Given the description of an element on the screen output the (x, y) to click on. 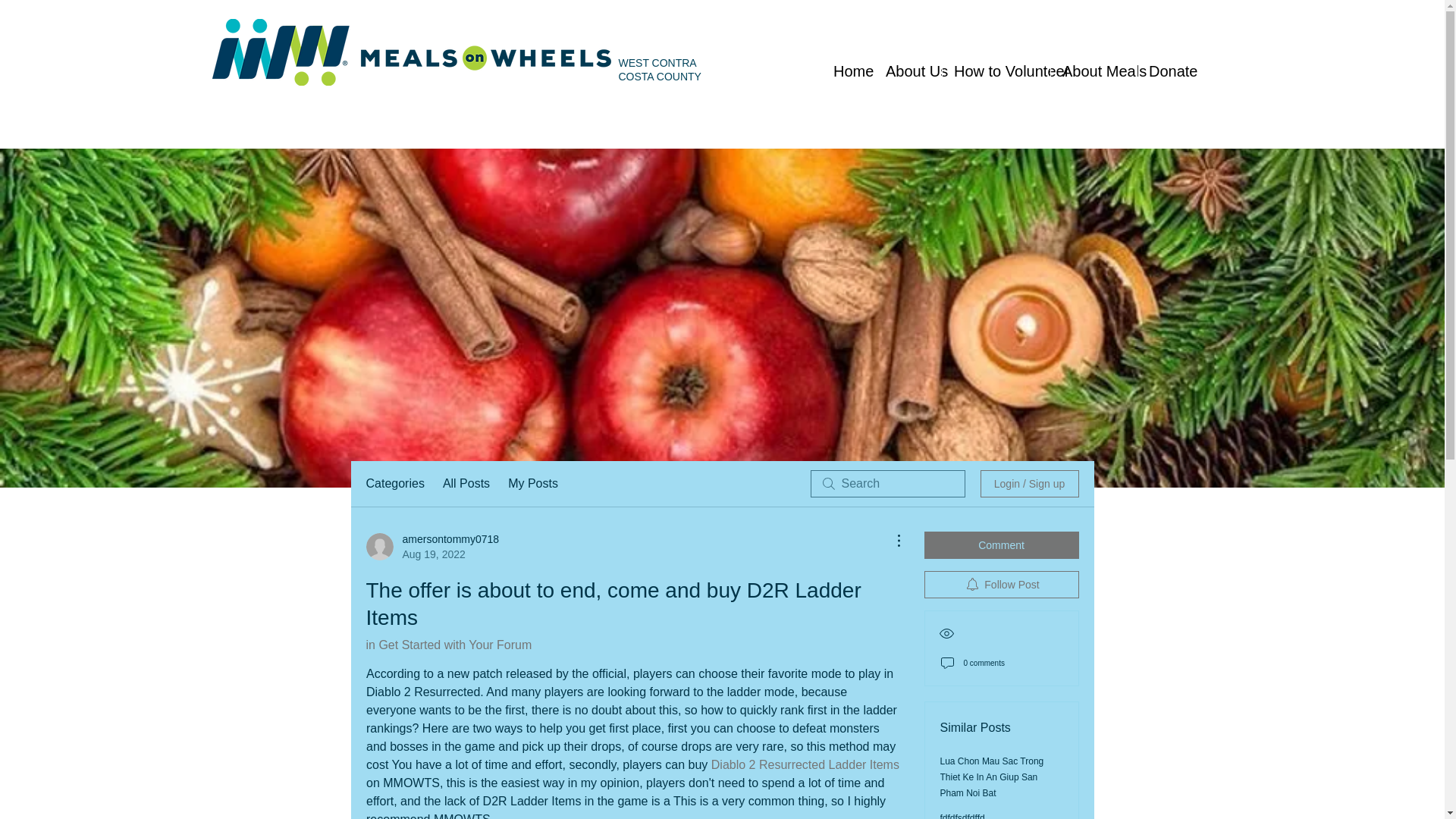
Categories (394, 484)
fdfdfsdfdffd (962, 816)
About Meals (1093, 70)
Follow Post (1000, 584)
Lua Chon Mau Sac Trong Thiet Ke In An Giup San Pham Noi Bat (991, 776)
in Get Started with Your Forum (448, 644)
Donate (1166, 70)
Home (847, 70)
Meals on Wheels West Contra Costa Region (412, 51)
Comment (1000, 544)
Diablo 2 Resurrected Ladder Items (804, 764)
About Us (907, 70)
How to Volunteer (995, 70)
My Posts (532, 484)
All Posts (465, 484)
